Given the description of an element on the screen output the (x, y) to click on. 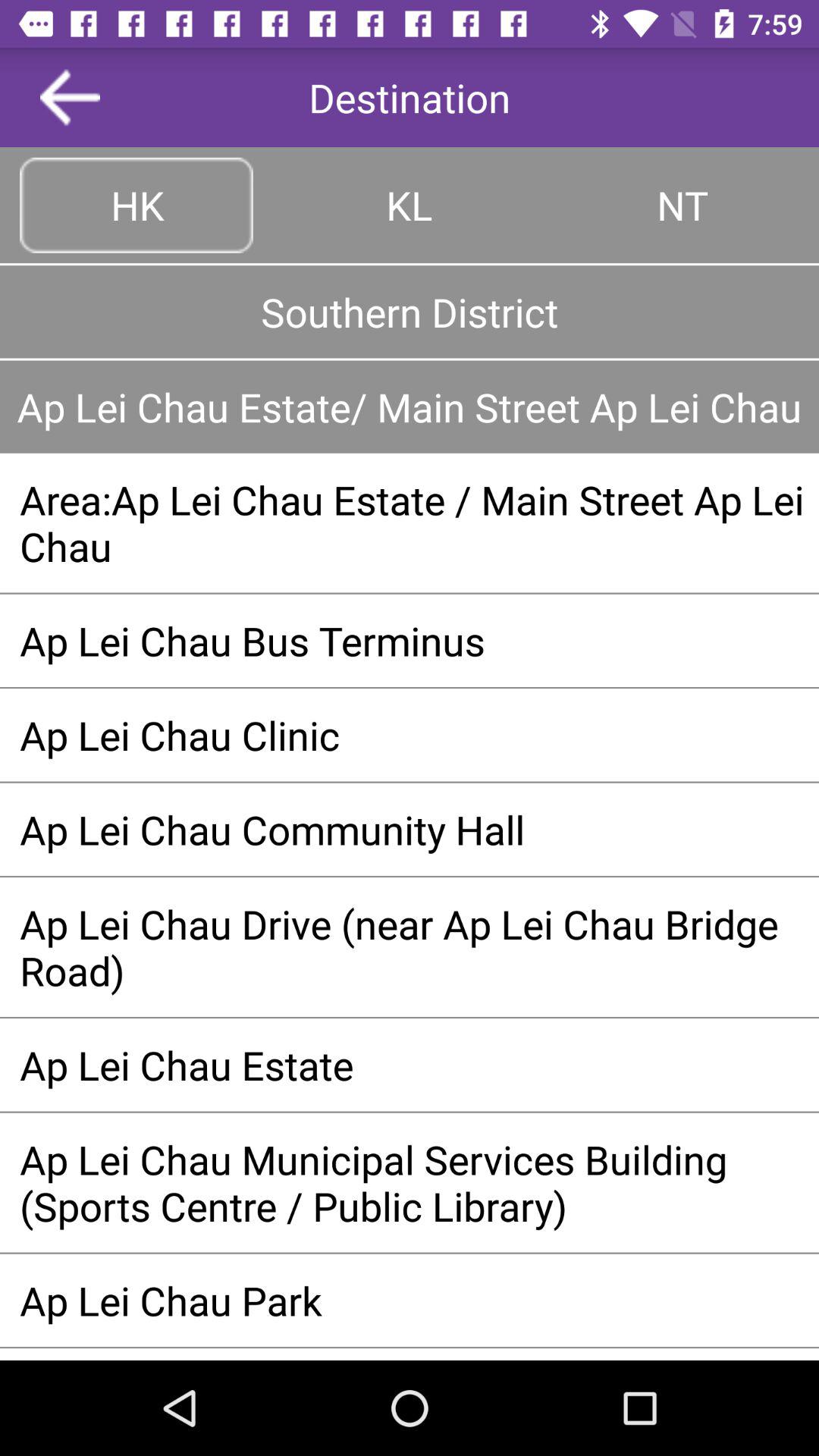
turn on button next to the kl icon (136, 205)
